Given the description of an element on the screen output the (x, y) to click on. 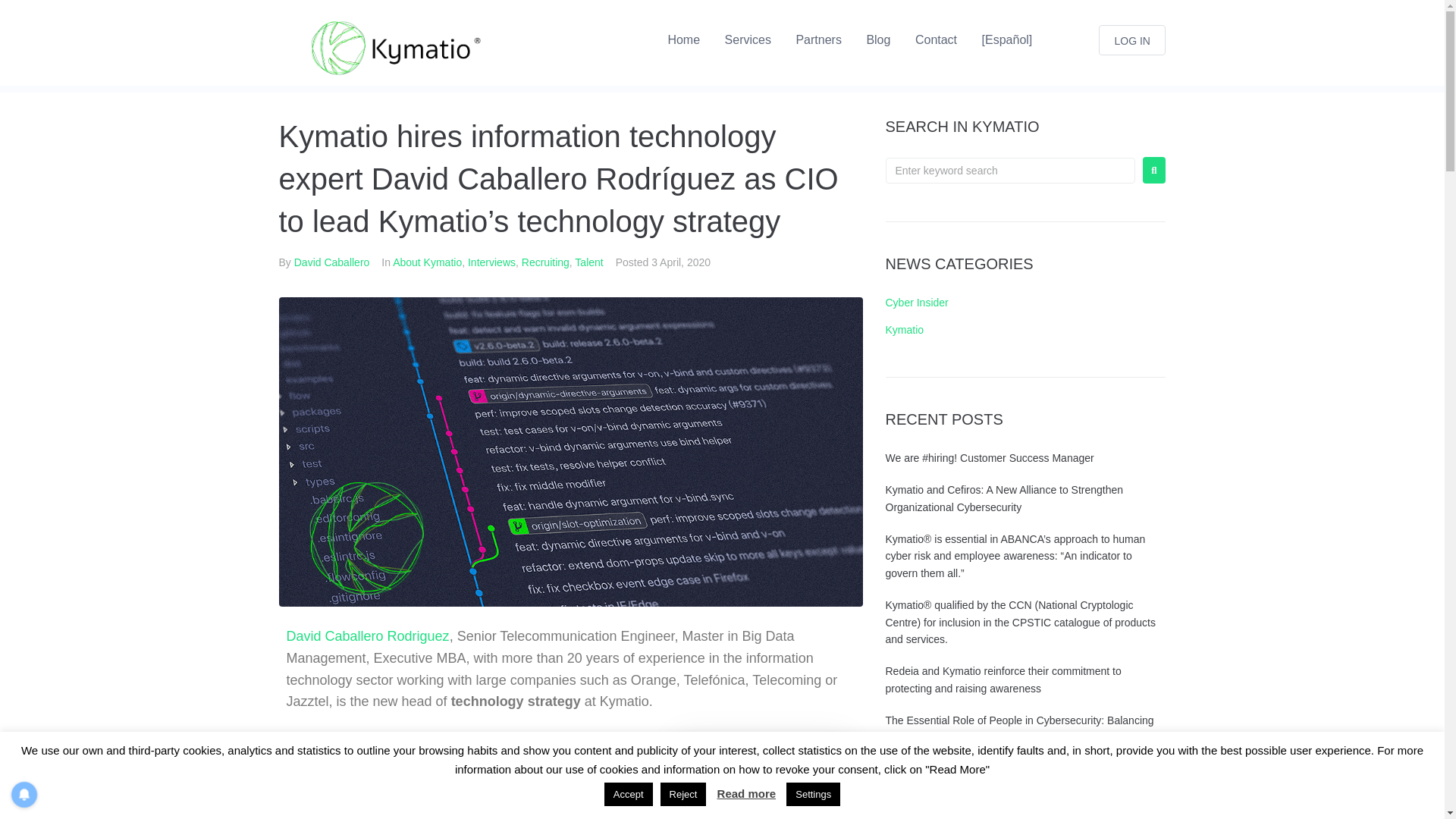
Home (683, 38)
Talent (588, 262)
Contact (936, 38)
Blog (877, 38)
Recruiting (545, 262)
Interviews (491, 262)
David Caballero Rodriguez (367, 635)
Partners (818, 38)
LOG IN (1132, 40)
About Kymatio (427, 262)
David Caballero (331, 262)
Services (748, 38)
